Given the description of an element on the screen output the (x, y) to click on. 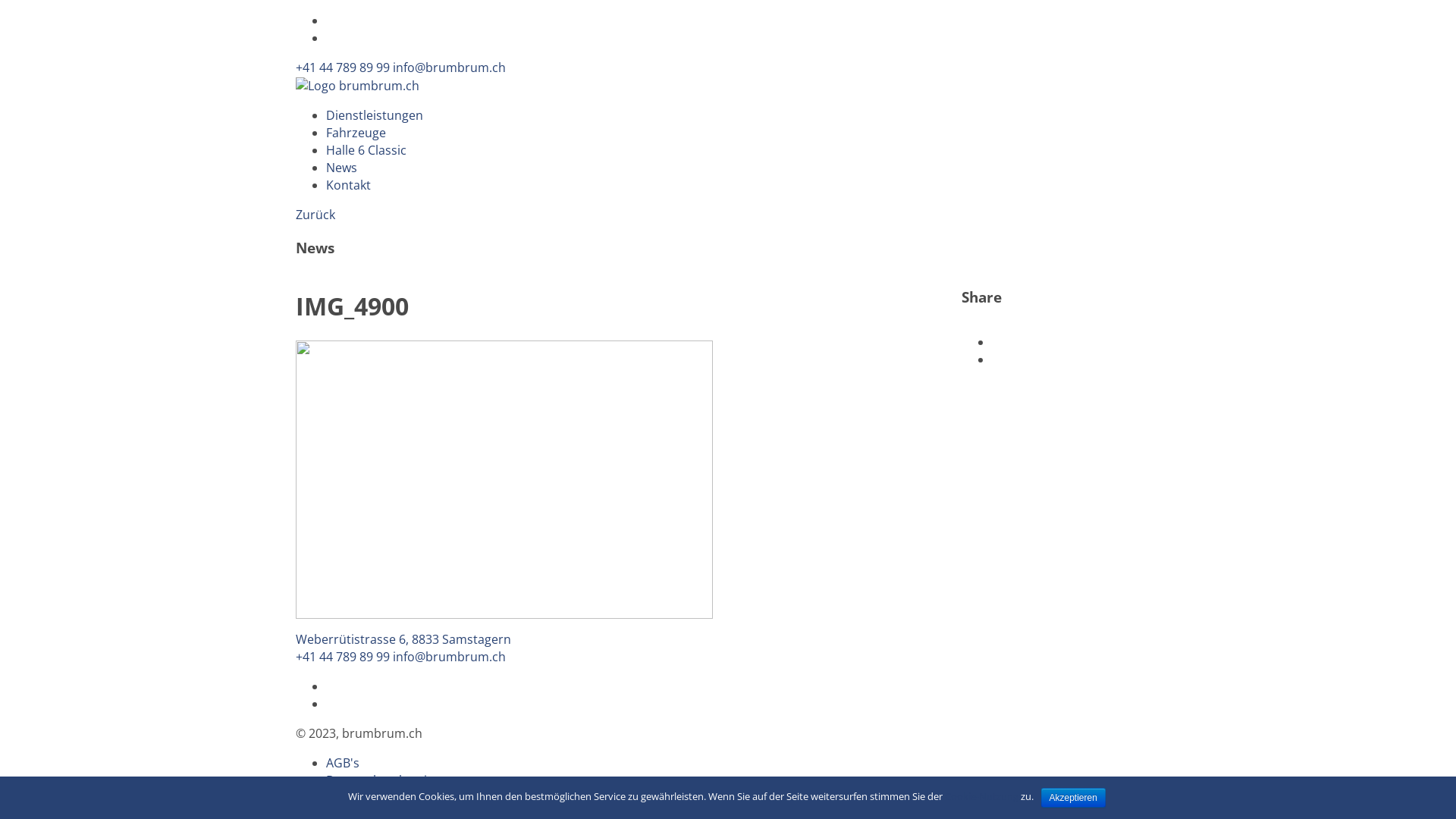
Cookie-Nutzung Element type: text (981, 796)
News Element type: text (341, 167)
info@brumbrum.ch Element type: text (448, 67)
AGB's Element type: text (342, 762)
info@brumbrum.ch Element type: text (448, 656)
Dienstleistungen Element type: text (374, 114)
+41 44 789 89 99 Element type: text (342, 656)
Impressum Element type: text (358, 797)
brumbrum.ch aus Freude am Automobil Element type: hover (357, 85)
Akzeptieren Element type: text (1073, 797)
Datenschutzbestimmungen Element type: text (406, 779)
Kontakt Element type: text (348, 184)
Halle 6 Classic Element type: text (366, 149)
+41 44 789 89 99 Element type: text (342, 67)
Fahrzeuge Element type: text (355, 132)
